Given the description of an element on the screen output the (x, y) to click on. 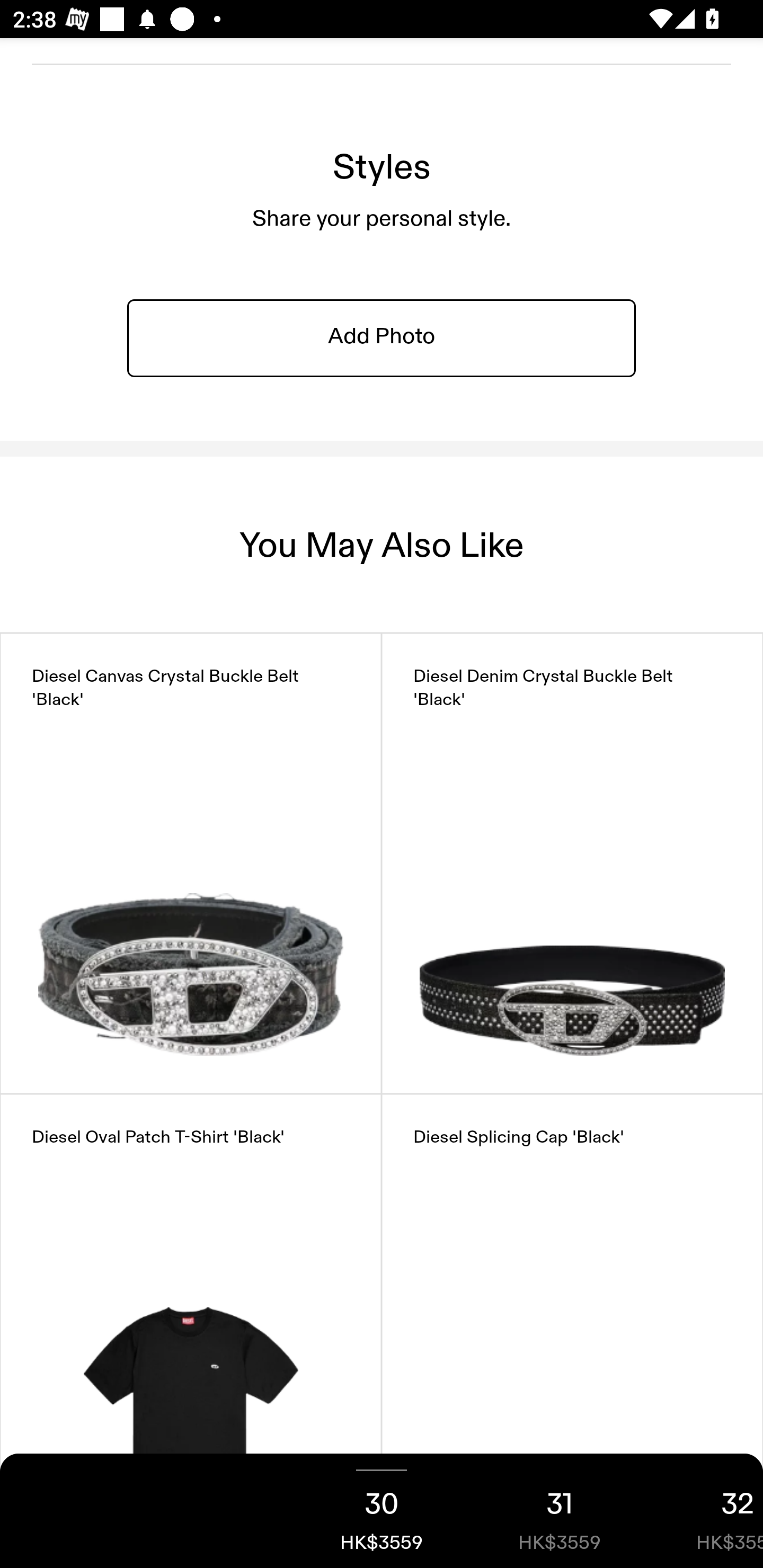
Add Photo (381, 337)
Diesel Canvas Crystal Buckle Belt 'Black' (190, 863)
Diesel Denim Crystal Buckle Belt 'Black' (572, 863)
Diesel Oval Patch T-Shirt 'Black' (190, 1324)
Diesel Splicing Cap 'Black' (572, 1324)
30 HK$3559 (381, 1510)
31 HK$3559 (559, 1510)
32 HK$3559 (705, 1510)
